Given the description of an element on the screen output the (x, y) to click on. 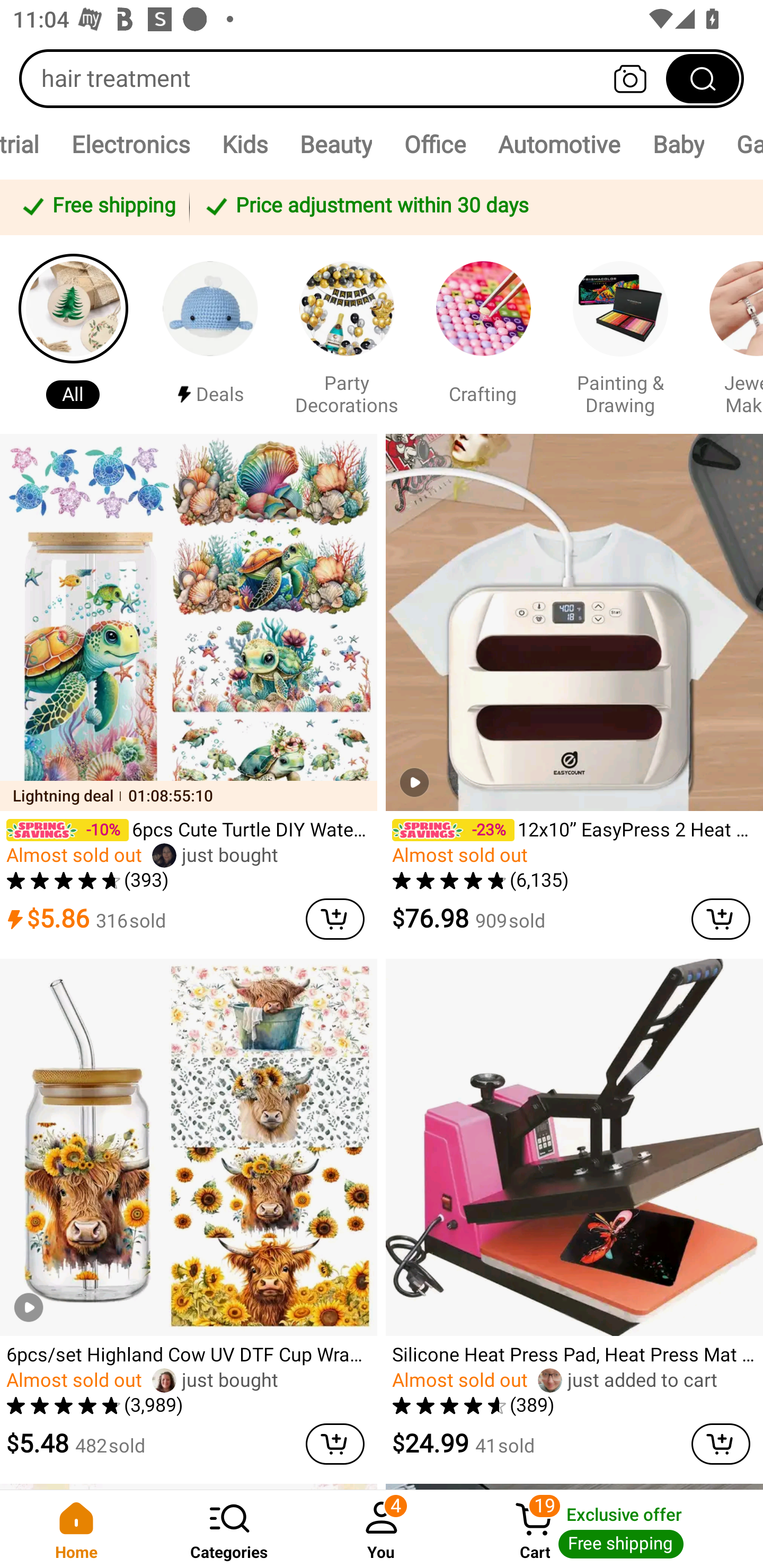
hair treatment (381, 78)
Electronics (129, 144)
Kids (244, 144)
Beauty (335, 144)
Office (434, 144)
Automotive (558, 144)
Baby (678, 144)
Free shipping (97, 206)
Price adjustment within 30 days (472, 206)
All (72, 333)
￼￼Deals (209, 333)
Party Decorations (346, 333)
Crafting (482, 333)
Painting & Drawing (619, 333)
cart delete (334, 918)
cart delete (720, 918)
cart delete (334, 1443)
cart delete (720, 1443)
Home (76, 1528)
Categories (228, 1528)
You 4 You (381, 1528)
Cart 19 Cart Exclusive offer (610, 1528)
